Given the description of an element on the screen output the (x, y) to click on. 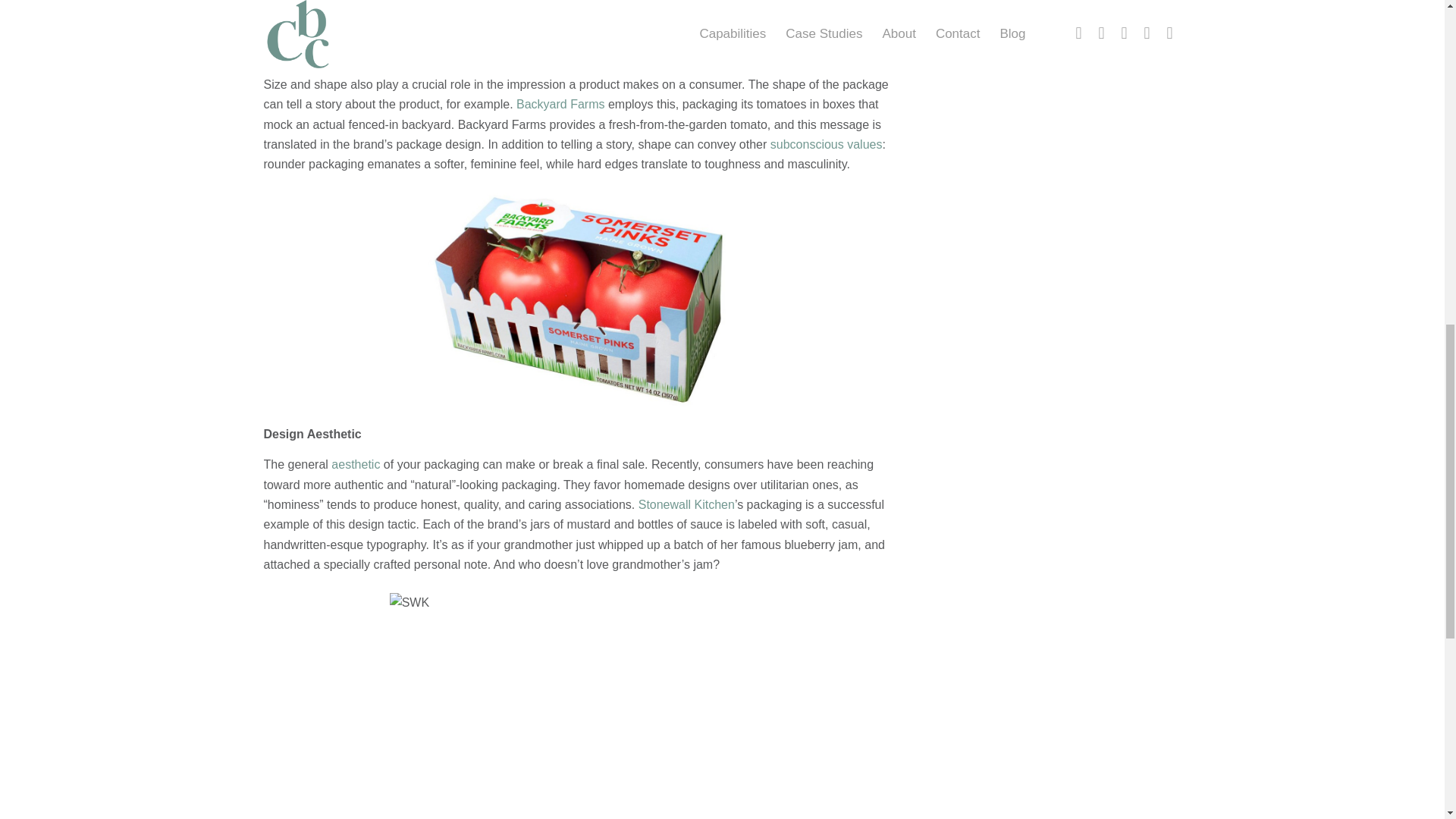
Backyard Farms (560, 103)
aesthetic (355, 463)
subconscious values (826, 144)
Stonewall Kitchen (687, 504)
